Given the description of an element on the screen output the (x, y) to click on. 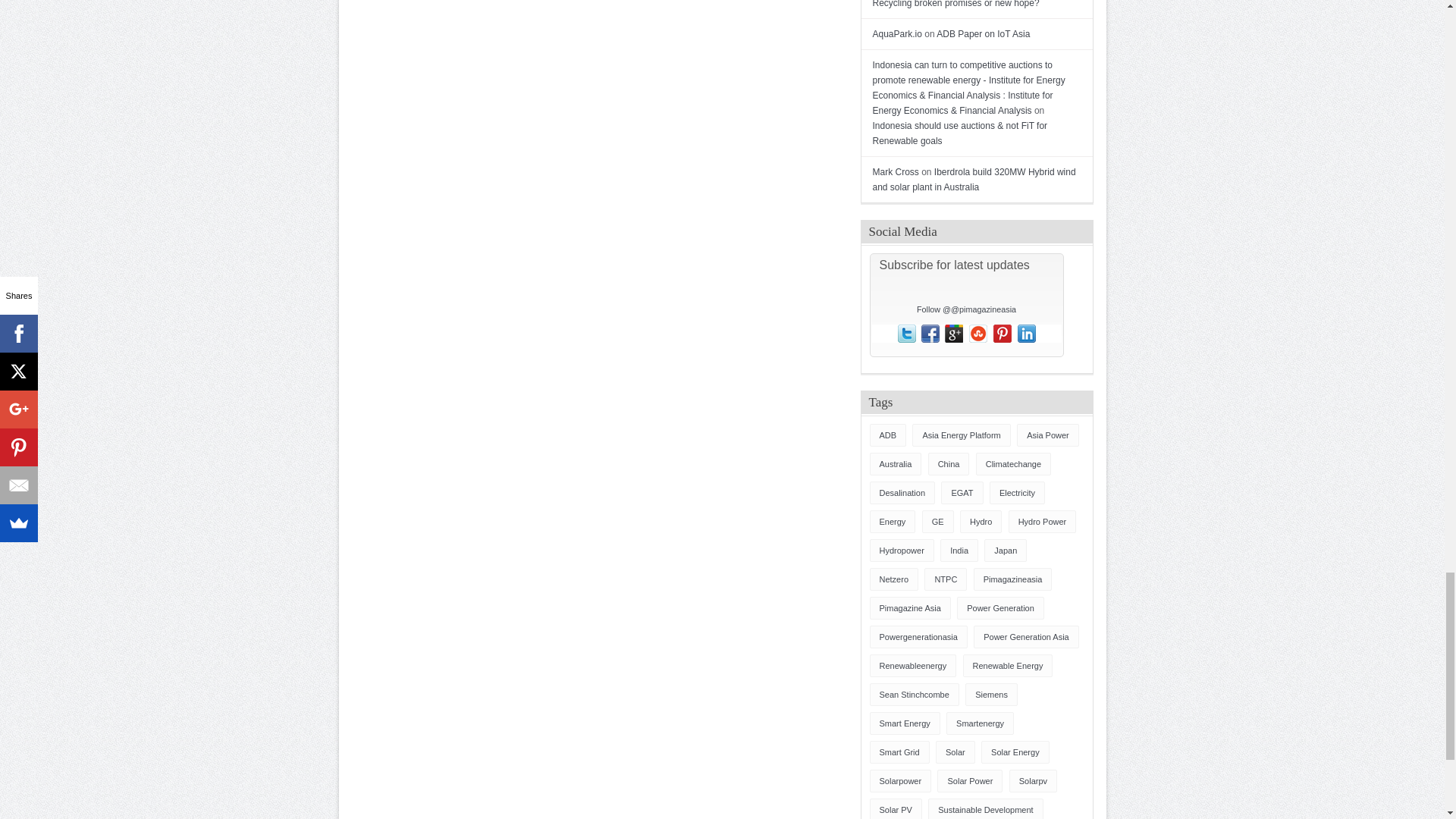
Submit post to LinkedIn (1026, 333)
Follow me on Pinterest (1001, 333)
Recommend Pimagazine Asia on StumbleUpon (978, 333)
Visit the Pimagazine Asia Facebook Page (929, 333)
